Given the description of an element on the screen output the (x, y) to click on. 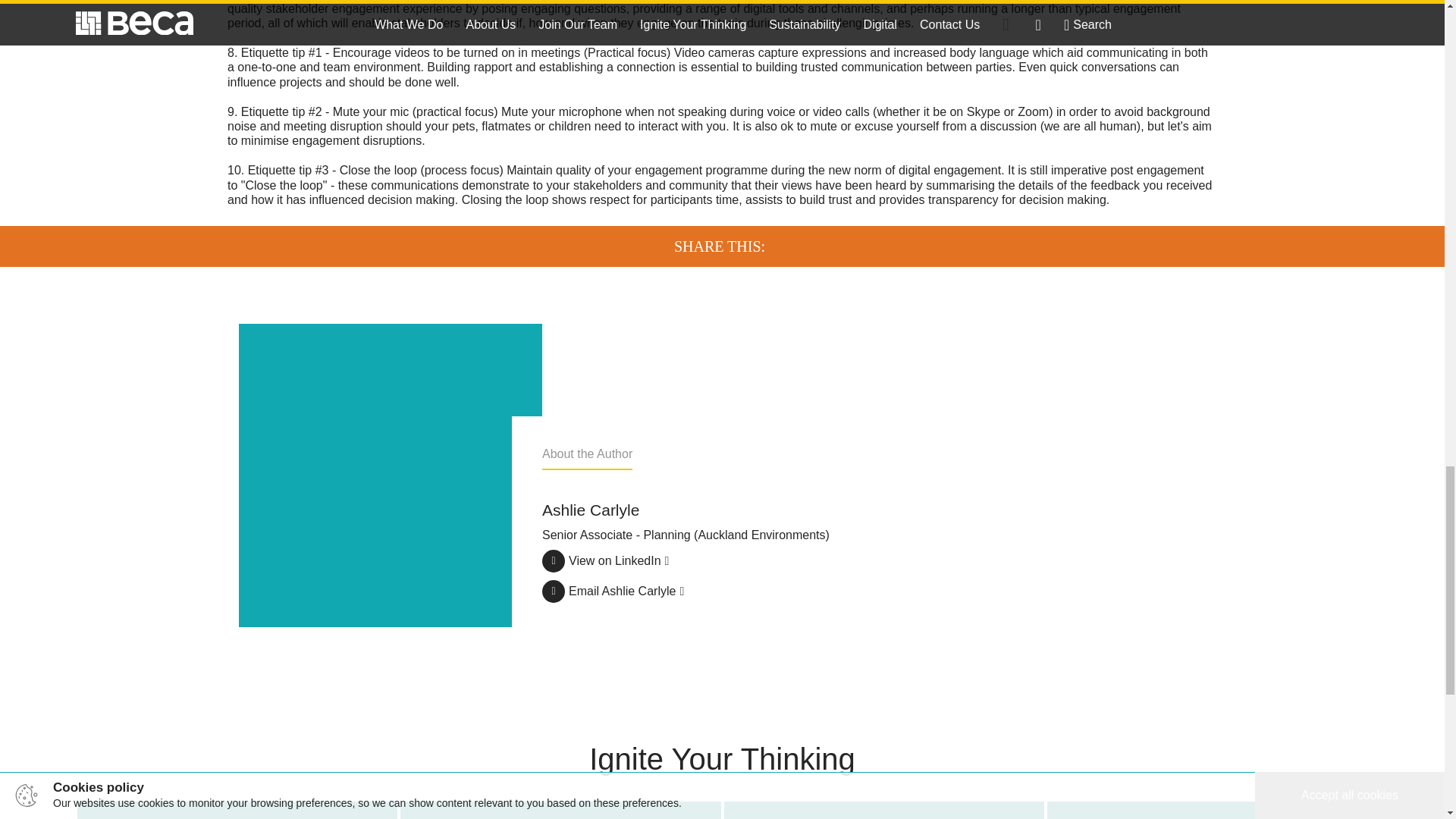
Email Ashlie Carlyle (612, 587)
View on LinkedIn (560, 810)
